Given the description of an element on the screen output the (x, y) to click on. 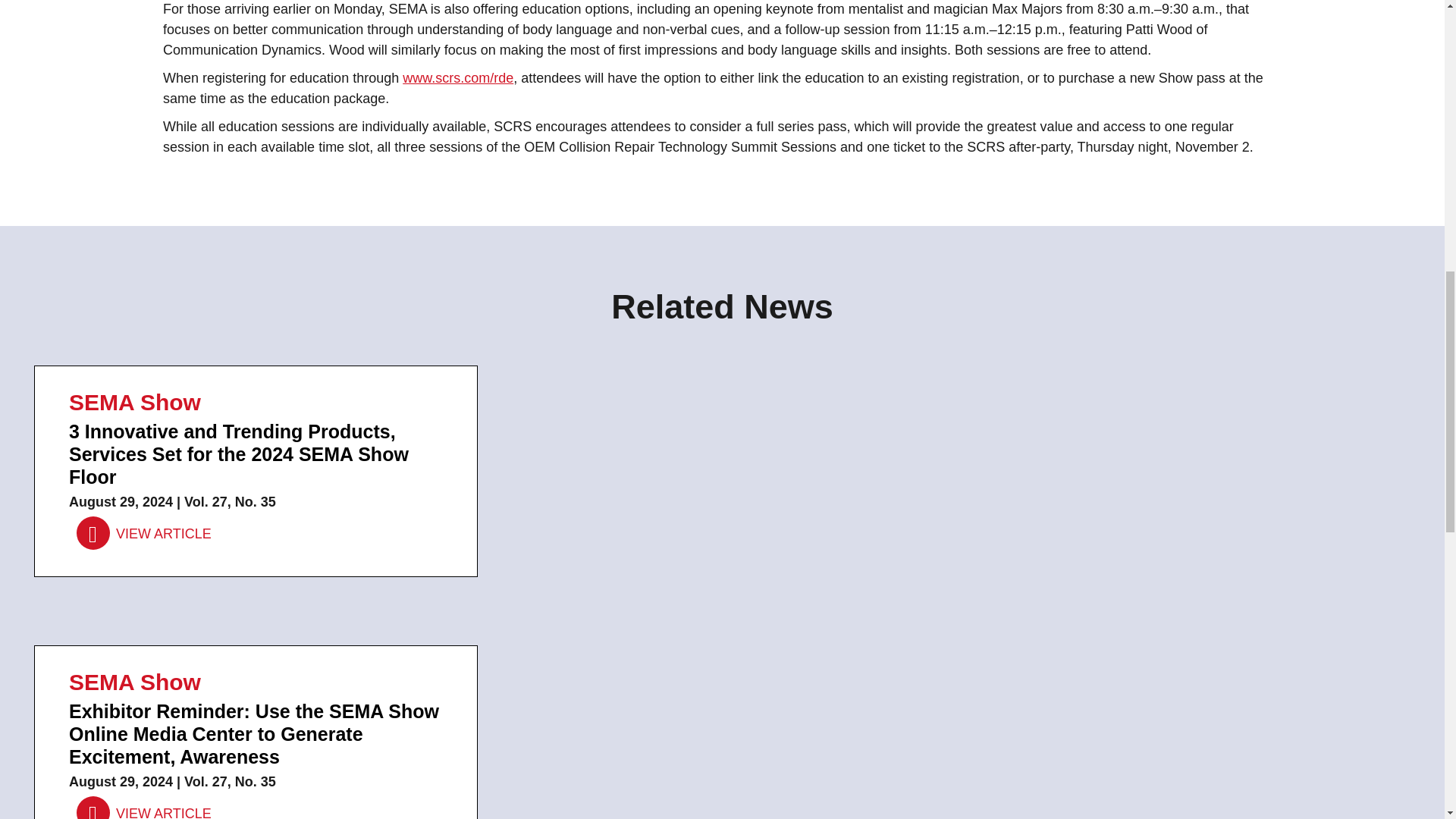
VIEW ARTICLE (143, 533)
VIEW ARTICLE (143, 808)
